Given the description of an element on the screen output the (x, y) to click on. 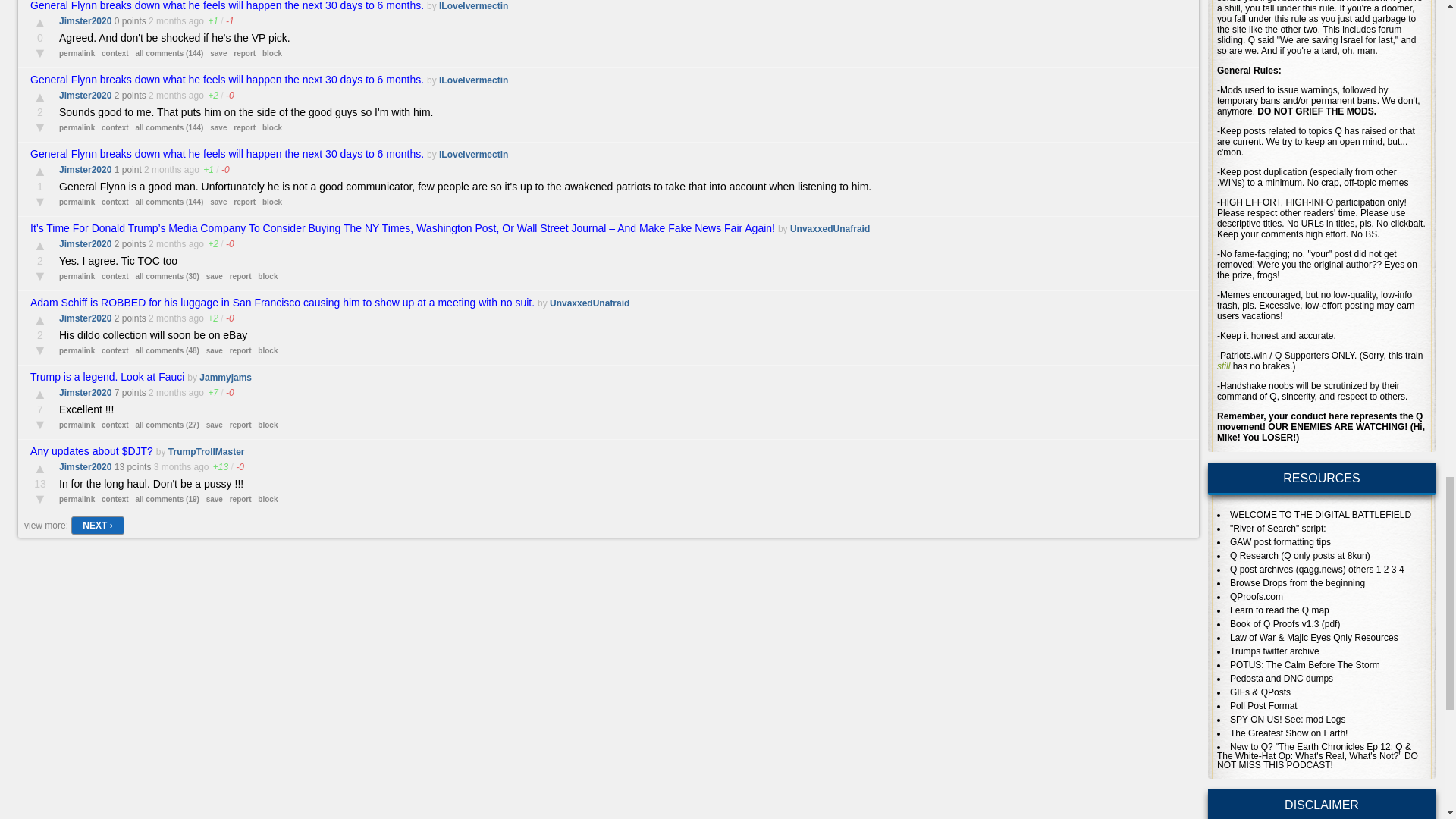
Thu May 09 12:08:11 GMT 2024 (167, 95)
Thu May 09 23:52:12 GMT 2024 (167, 20)
